Given the description of an element on the screen output the (x, y) to click on. 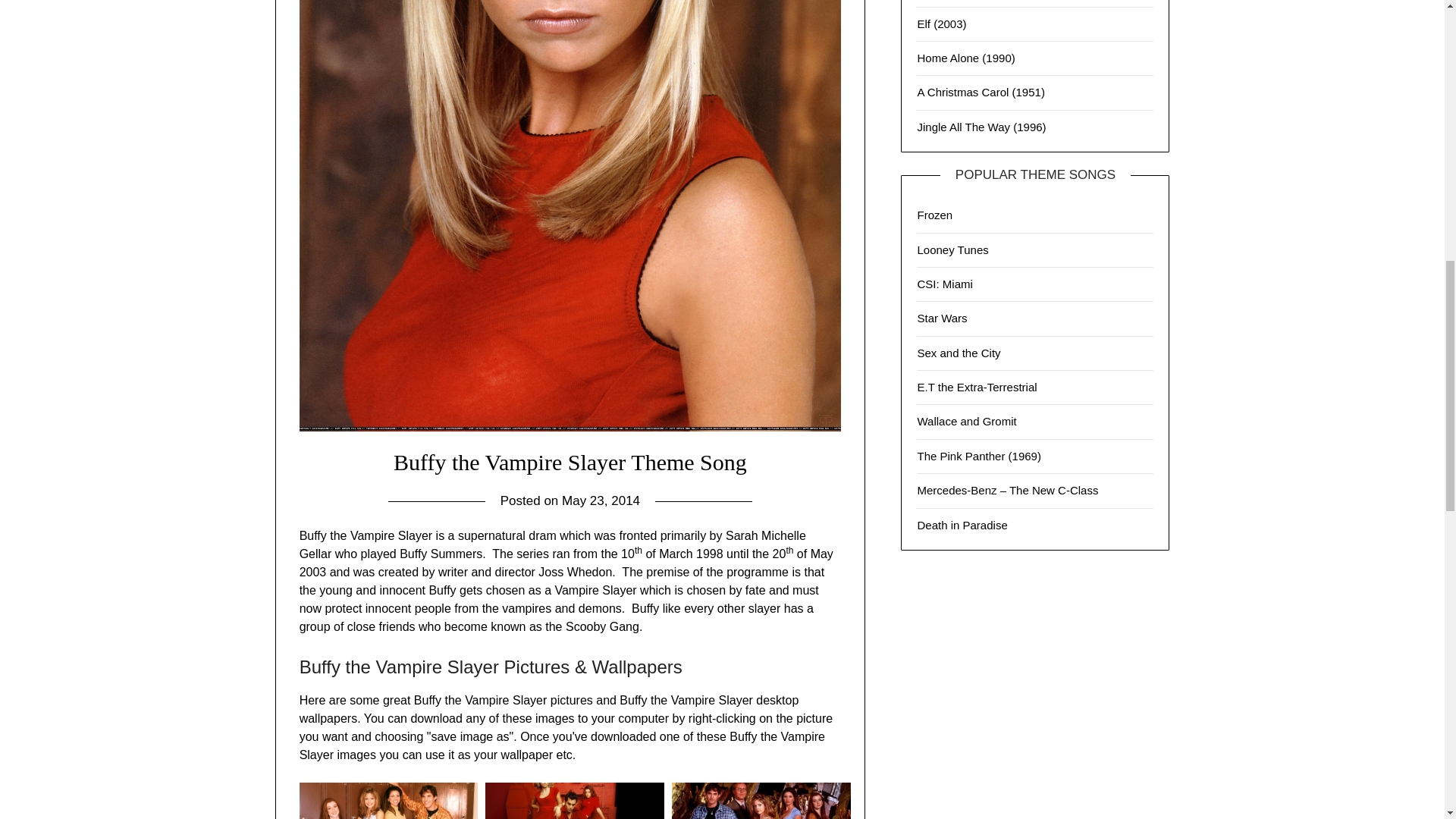
Frozen (934, 214)
Looney Tunes (952, 248)
CSI: Miami (944, 283)
May 23, 2014 (601, 500)
Wallace and Gromit (966, 420)
Sex and the City (958, 352)
Star Wars (941, 318)
E.T the Extra-Terrestrial (976, 386)
